Given the description of an element on the screen output the (x, y) to click on. 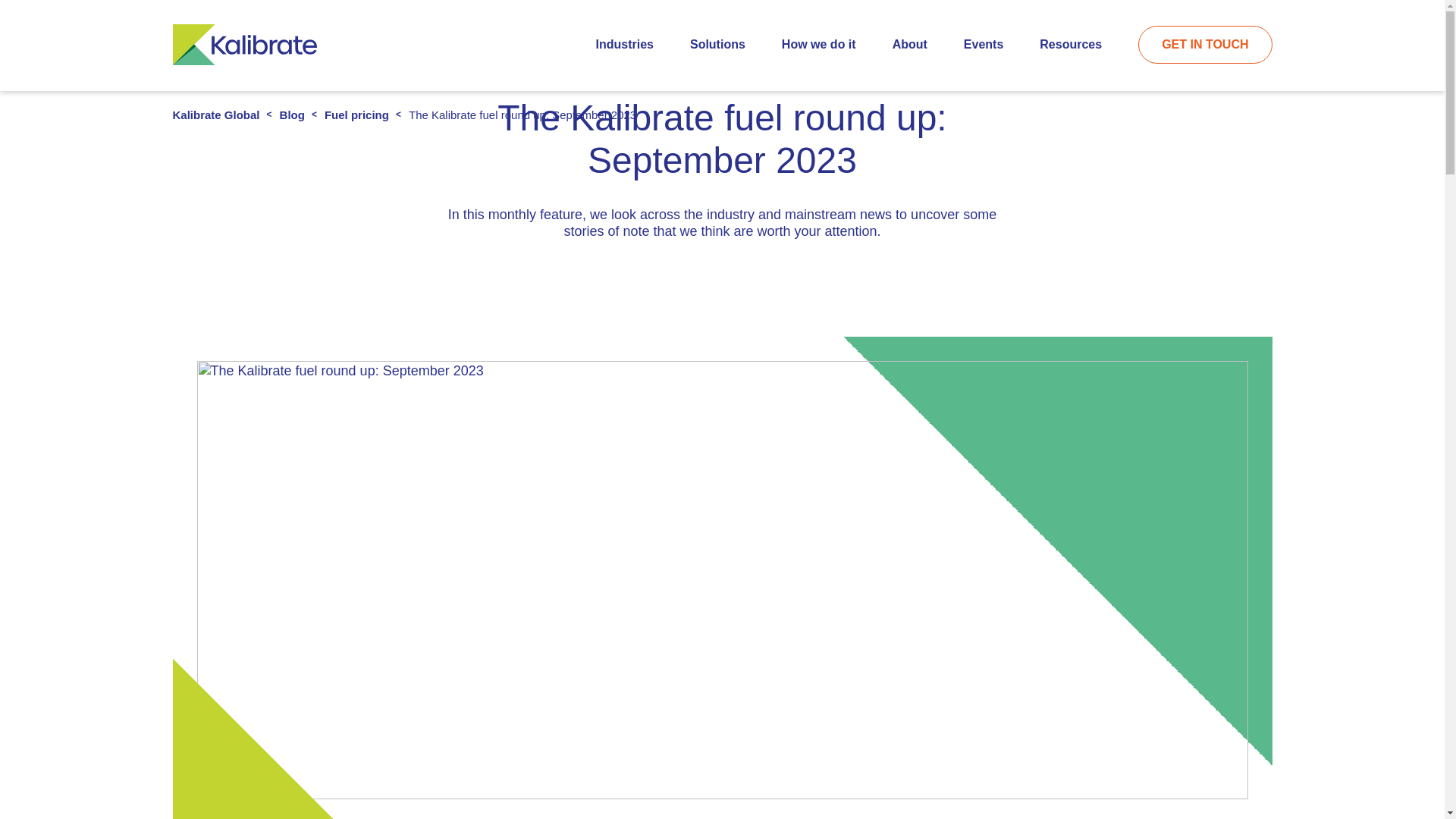
Solutions (717, 44)
Go to the Fuel pricing Category archives. (356, 114)
Industries (623, 44)
Go to Blog. (291, 114)
How we do it (818, 44)
Go to Kalibrate Global. (216, 114)
